Given the description of an element on the screen output the (x, y) to click on. 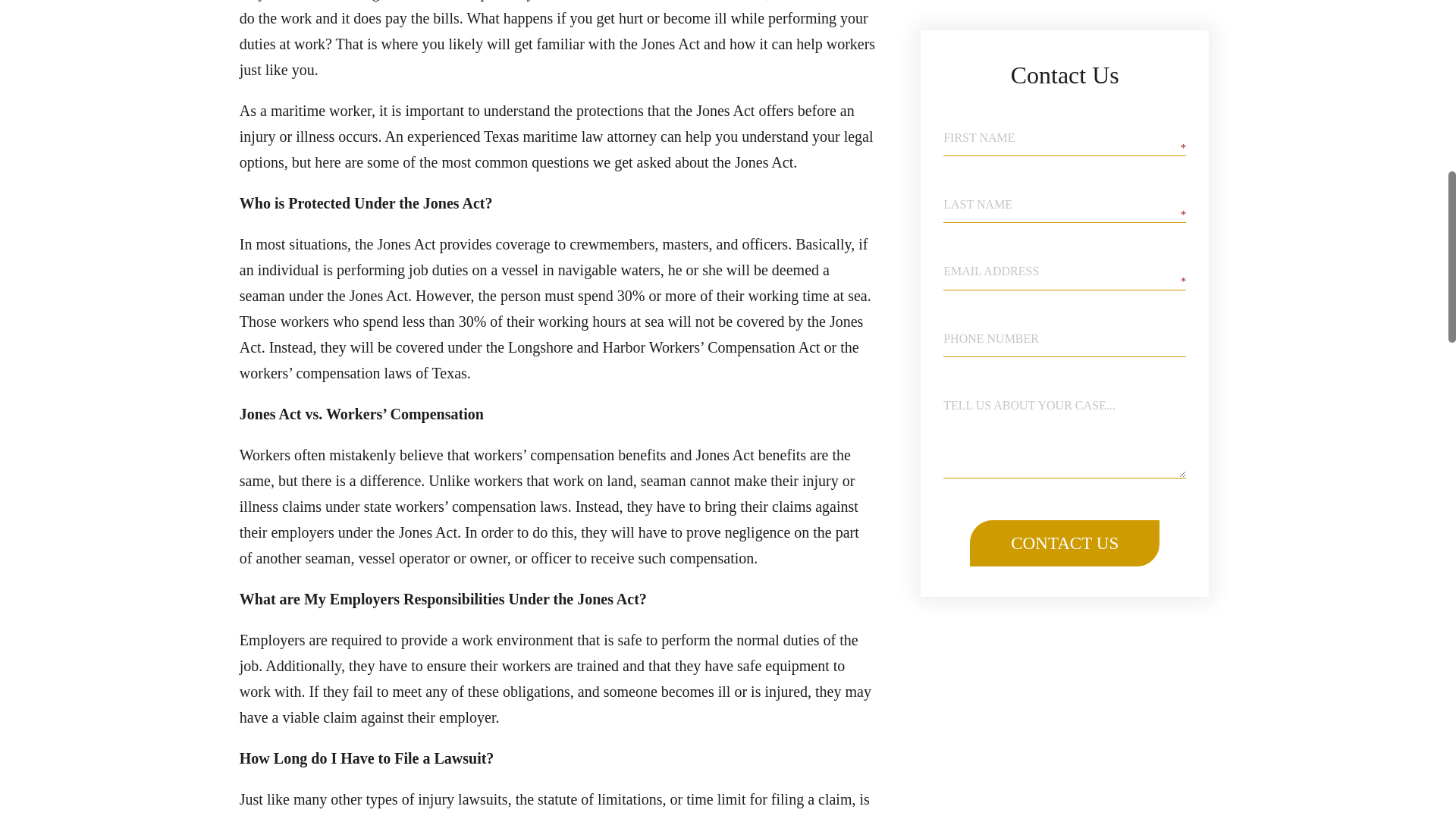
CONTACT US (1063, 180)
